Given the description of an element on the screen output the (x, y) to click on. 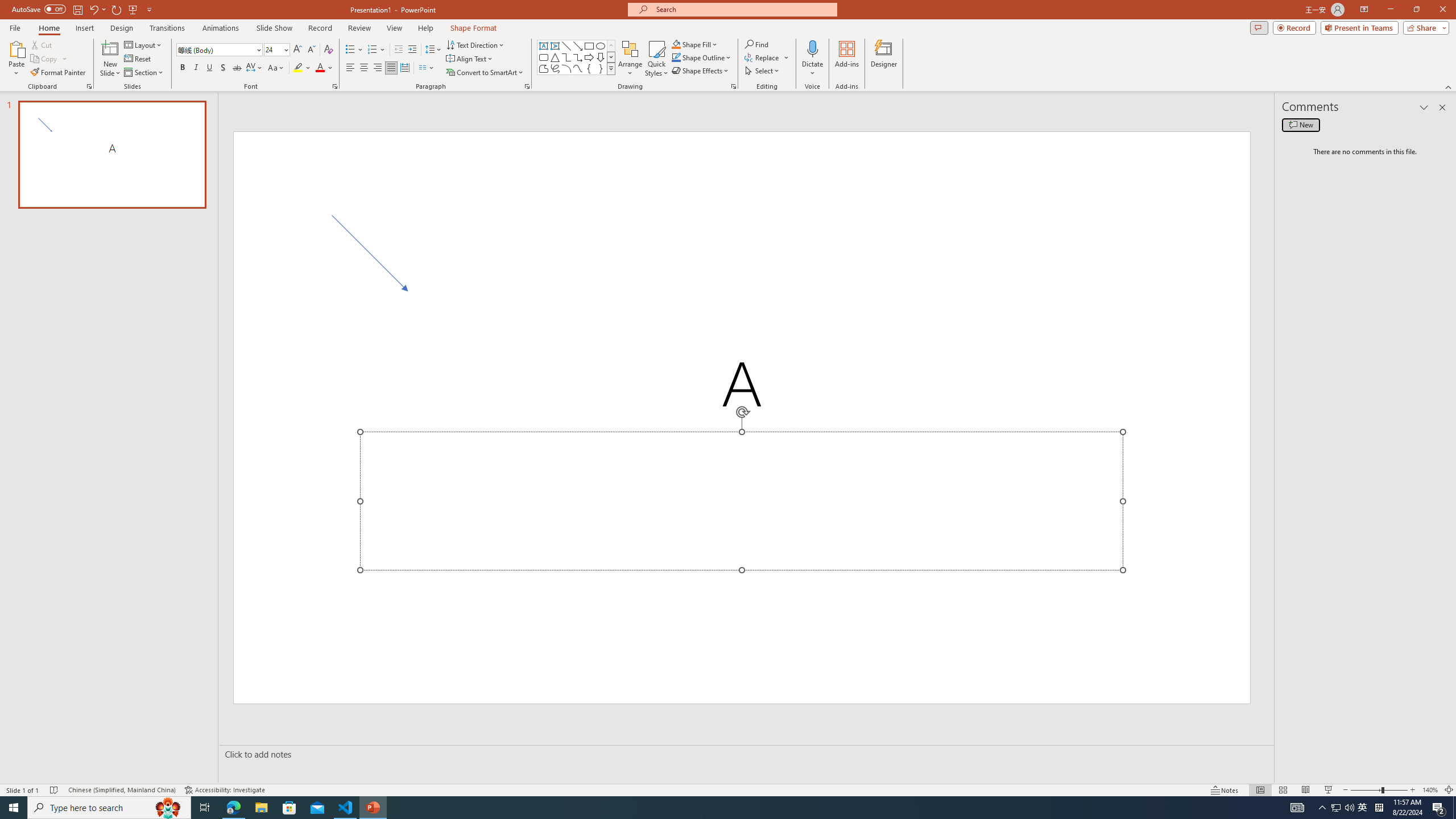
Zoom 140% (1430, 790)
